Given the description of an element on the screen output the (x, y) to click on. 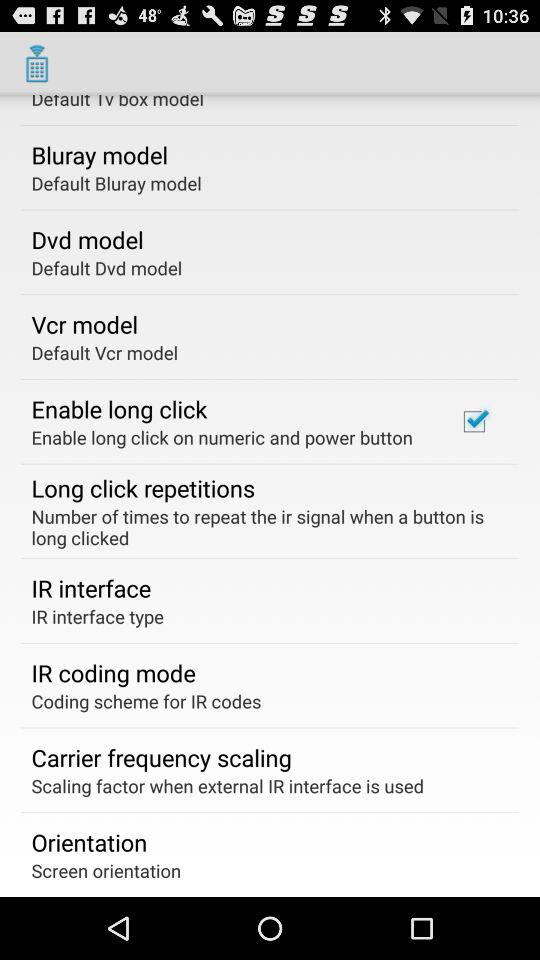
choose the icon below the carrier frequency scaling app (227, 785)
